Given the description of an element on the screen output the (x, y) to click on. 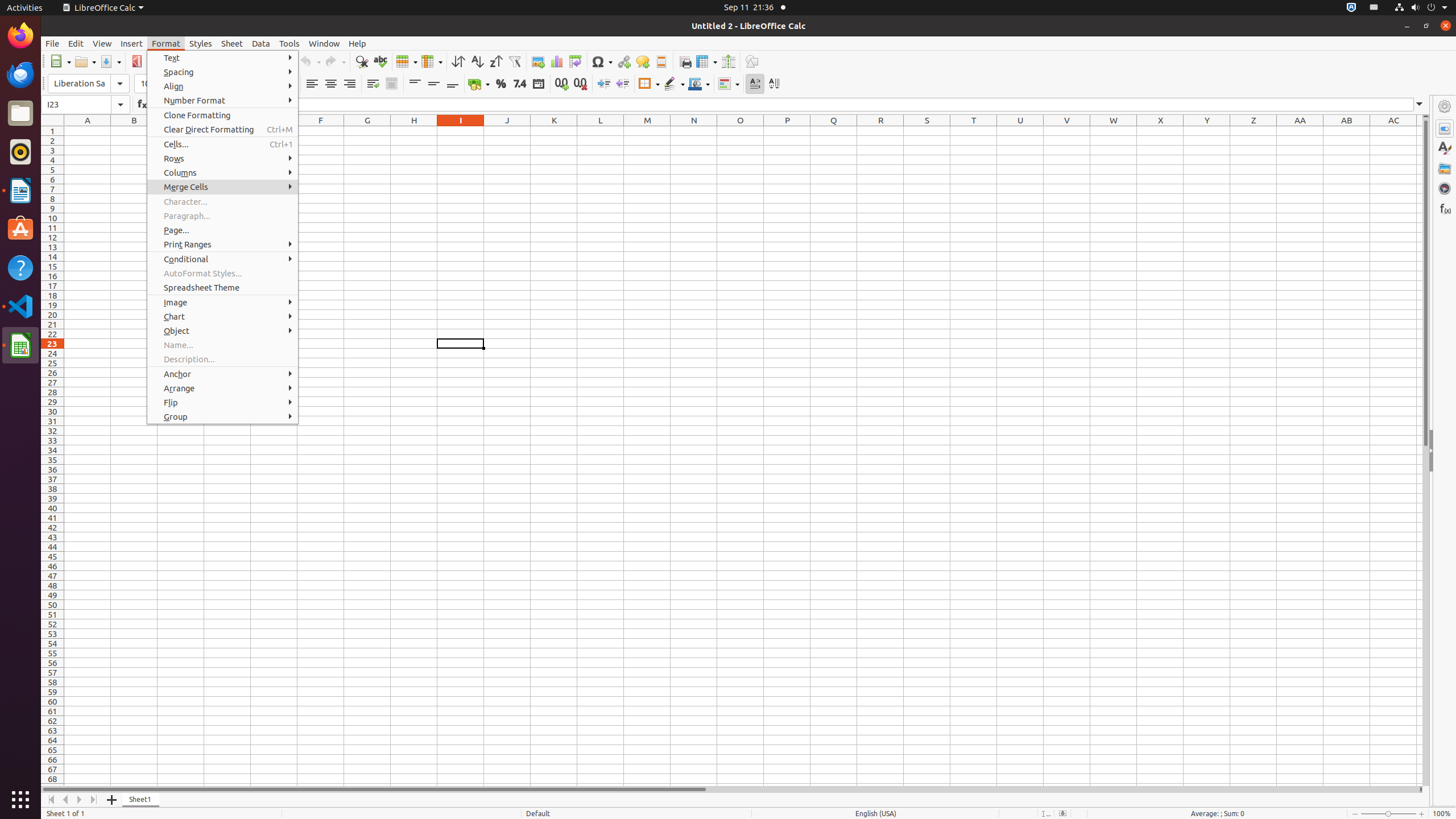
Chart Element type: menu (222, 316)
Navigator Element type: radio-button (1444, 188)
IsaHelpMain.desktop Element type: label (75, 170)
Data Element type: menu (260, 43)
Conditional Element type: menu (222, 258)
